Given the description of an element on the screen output the (x, y) to click on. 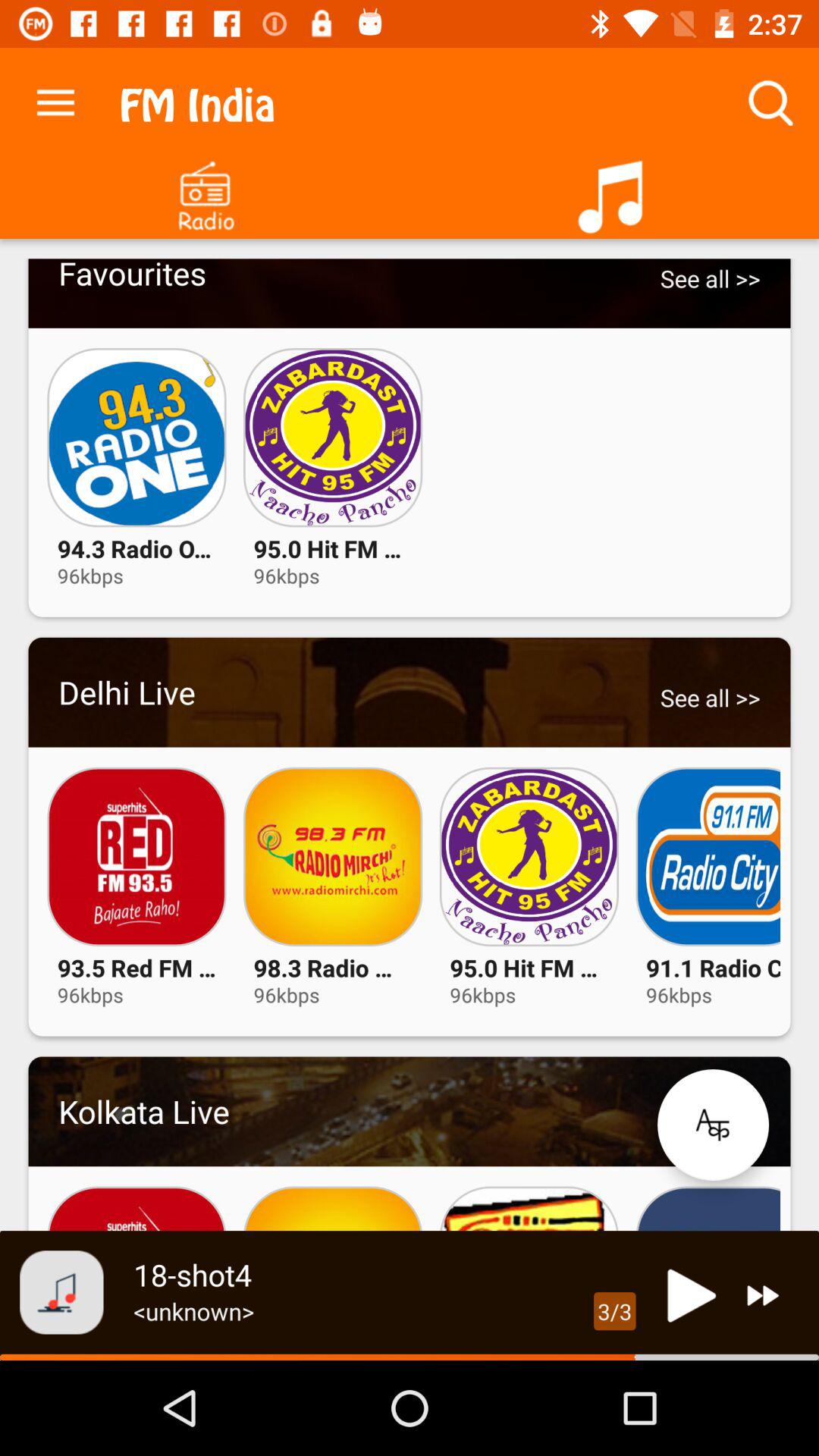
your music (614, 190)
